Given the description of an element on the screen output the (x, y) to click on. 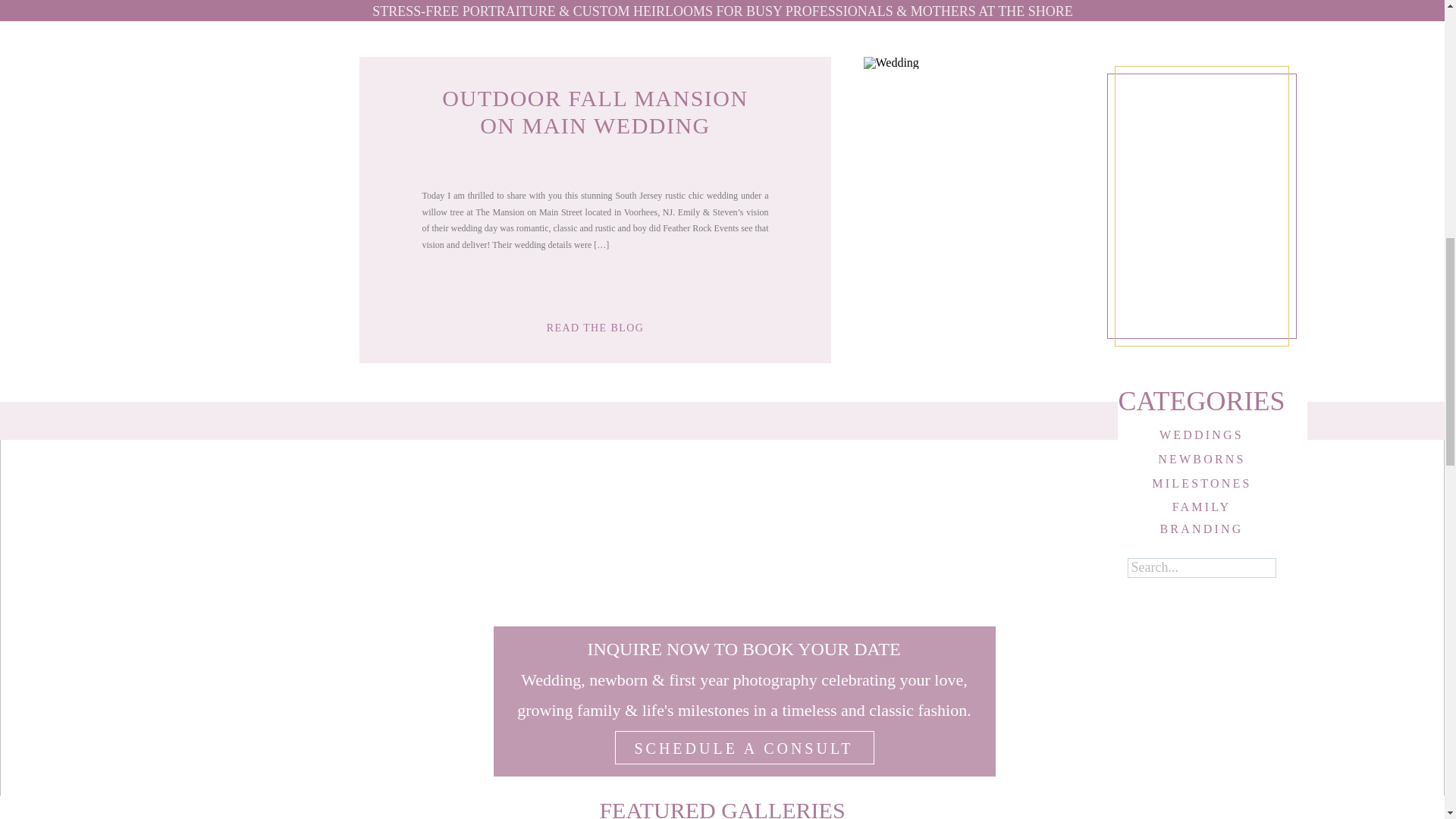
READ THE BLOG (594, 325)
FAMILY (1201, 504)
BRANDING (1201, 526)
MILESTONES (1201, 481)
SCHEDULE A CONSULT (743, 747)
WEDDINGS (1200, 432)
OUTDOOR FALL MANSION ON MAIN WEDDING (595, 111)
Outdoor Fall Mansion on Main Wedding (594, 325)
NEWBORNS (1201, 457)
